Given the description of an element on the screen output the (x, y) to click on. 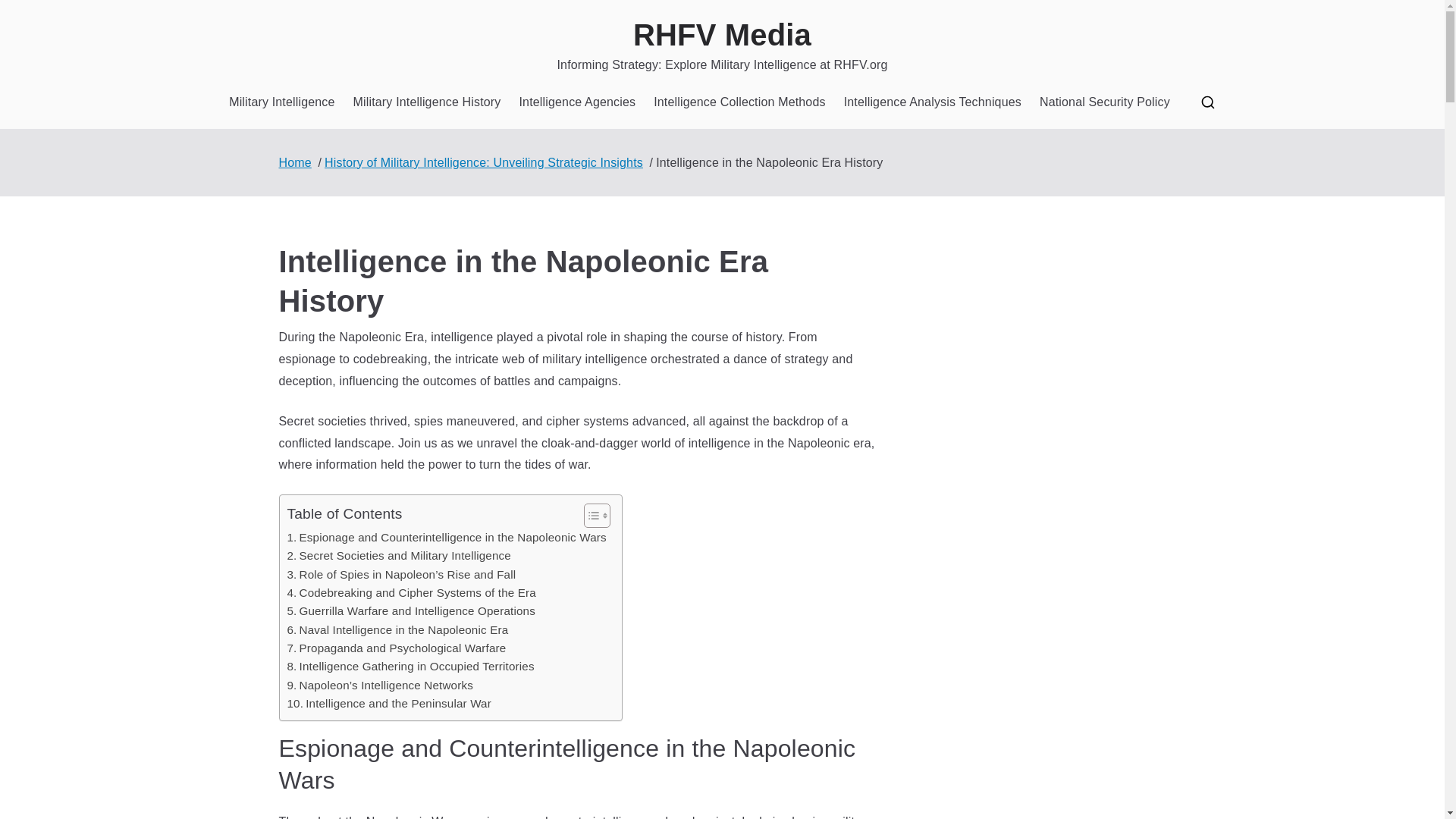
Intelligence Analysis Techniques (933, 102)
Intelligence Gathering in Occupied Territories (410, 666)
Espionage and Counterintelligence in the Napoleonic Wars (445, 537)
Secret Societies and Military Intelligence (398, 556)
Guerrilla Warfare and Intelligence Operations (410, 610)
Intelligence and the Peninsular War (388, 703)
Espionage and Counterintelligence in the Napoleonic Wars (445, 537)
Codebreaking and Cipher Systems of the Era (410, 592)
Search (26, 18)
Search (26, 12)
Military Intelligence (281, 102)
Intelligence Agencies (576, 102)
Intelligence Collection Methods (739, 102)
National Security Policy (1104, 102)
Propaganda and Psychological Warfare (395, 648)
